Given the description of an element on the screen output the (x, y) to click on. 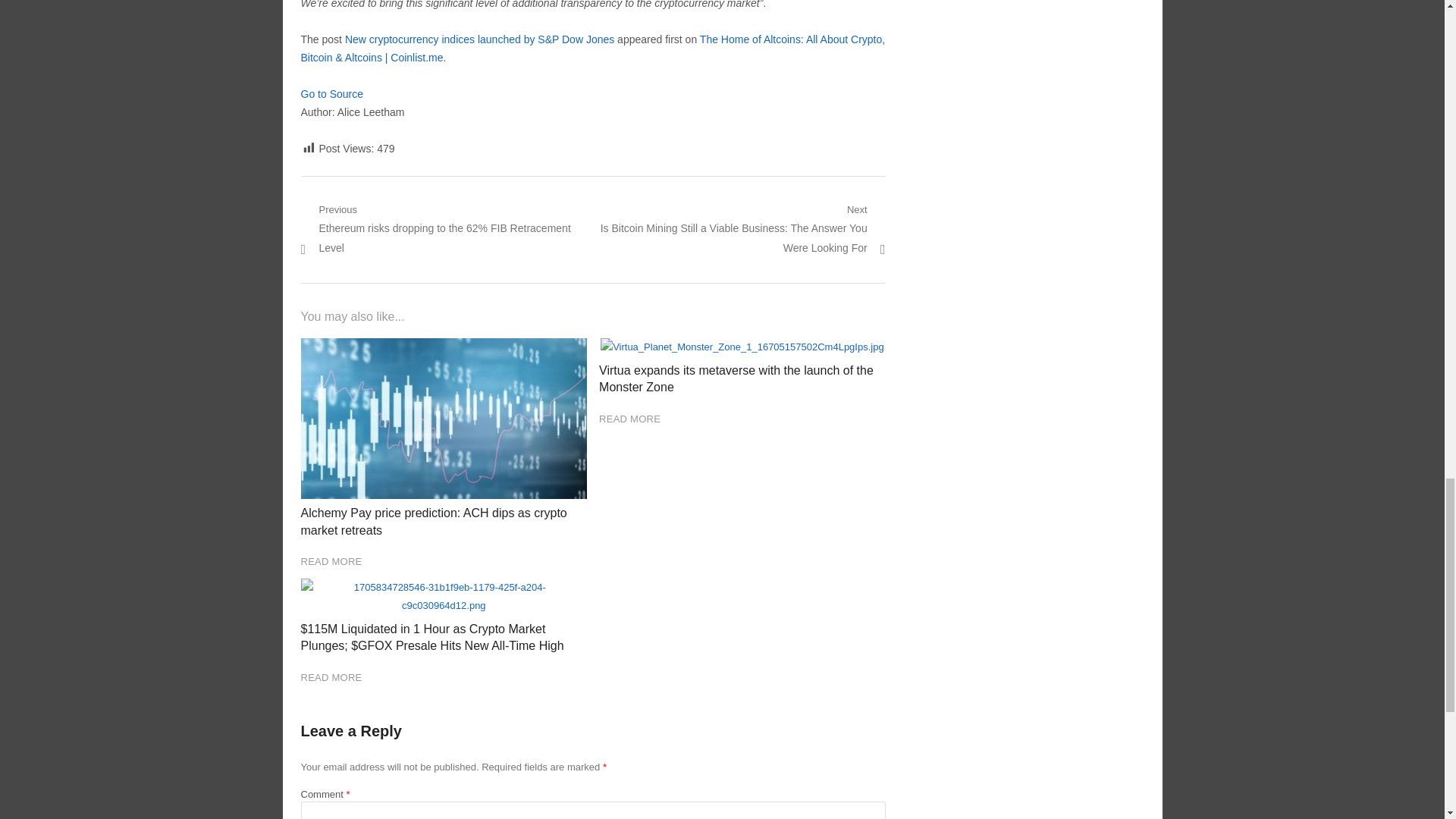
Go to Source (330, 93)
